Given the description of an element on the screen output the (x, y) to click on. 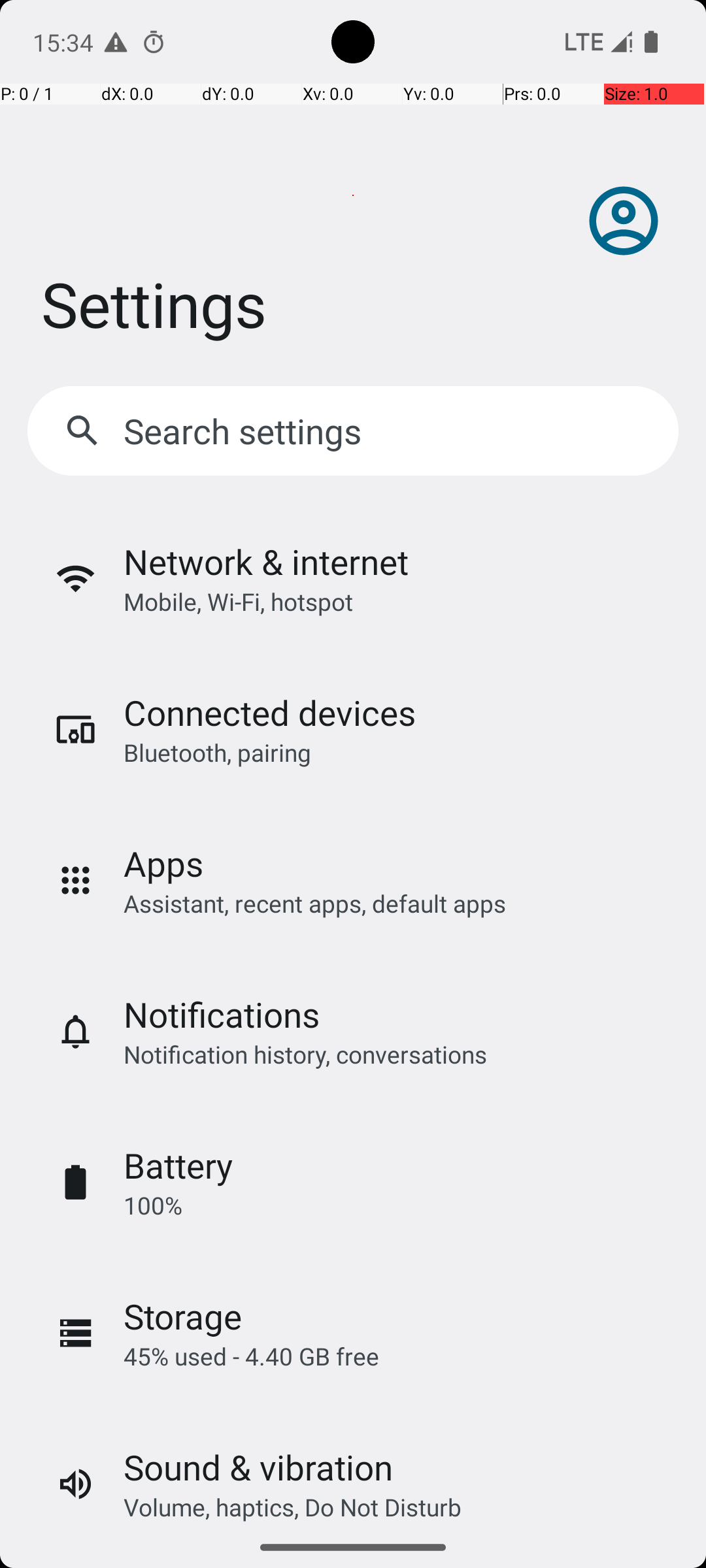
45% used - 4.40 GB free Element type: android.widget.TextView (251, 1355)
